Given the description of an element on the screen output the (x, y) to click on. 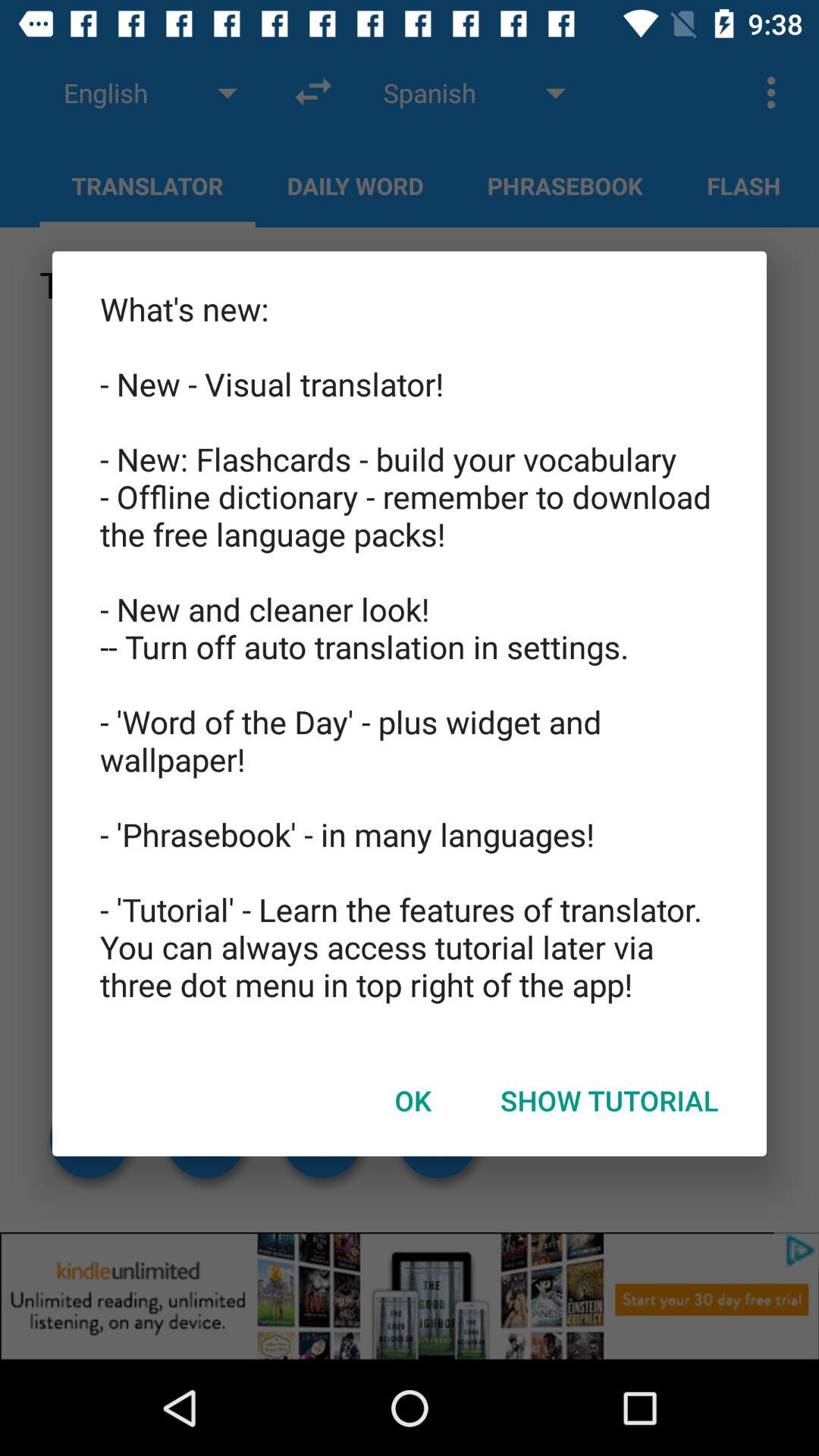
turn on the item to the right of the ok icon (609, 1100)
